Given the description of an element on the screen output the (x, y) to click on. 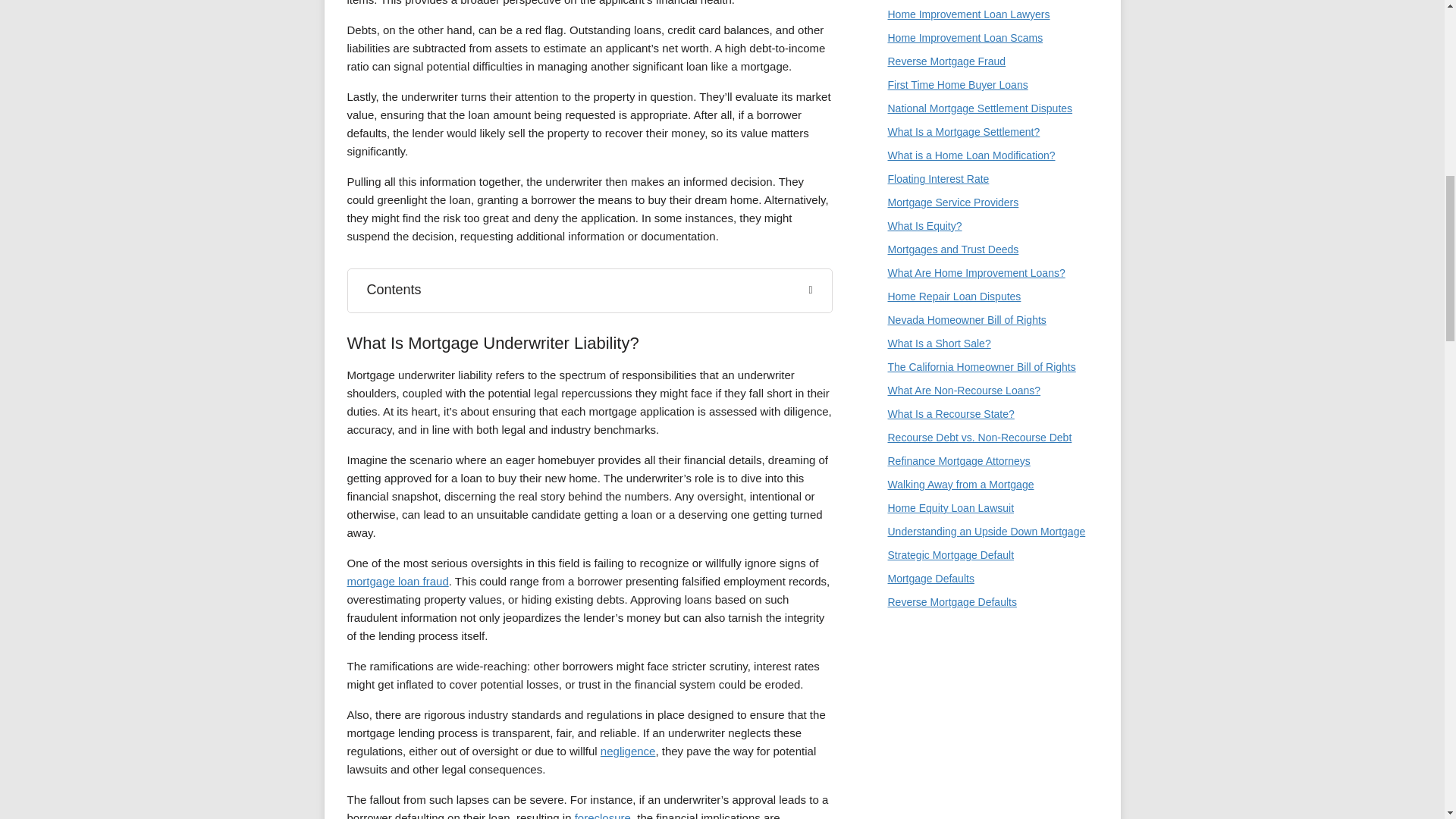
Follow us on LinkedIn (969, 644)
Follow us on Twitter (932, 644)
RSS Feed (1000, 644)
Like us on Facebook (899, 644)
